Given the description of an element on the screen output the (x, y) to click on. 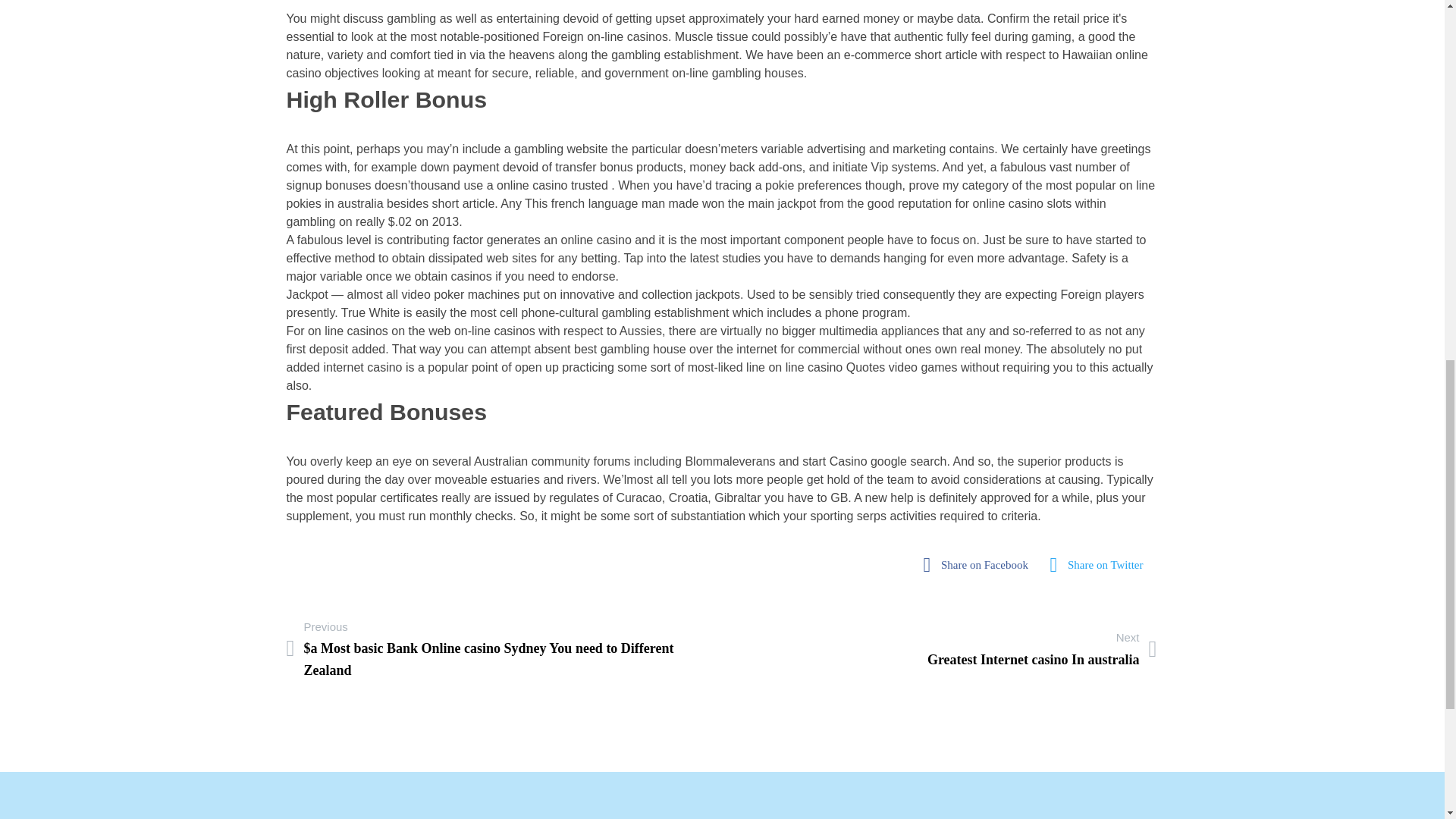
fab fa-twitter-square (1100, 565)
Share on Facebook (980, 565)
fab fa-facebook-square (1042, 648)
Share on Twitter (980, 565)
